Given the description of an element on the screen output the (x, y) to click on. 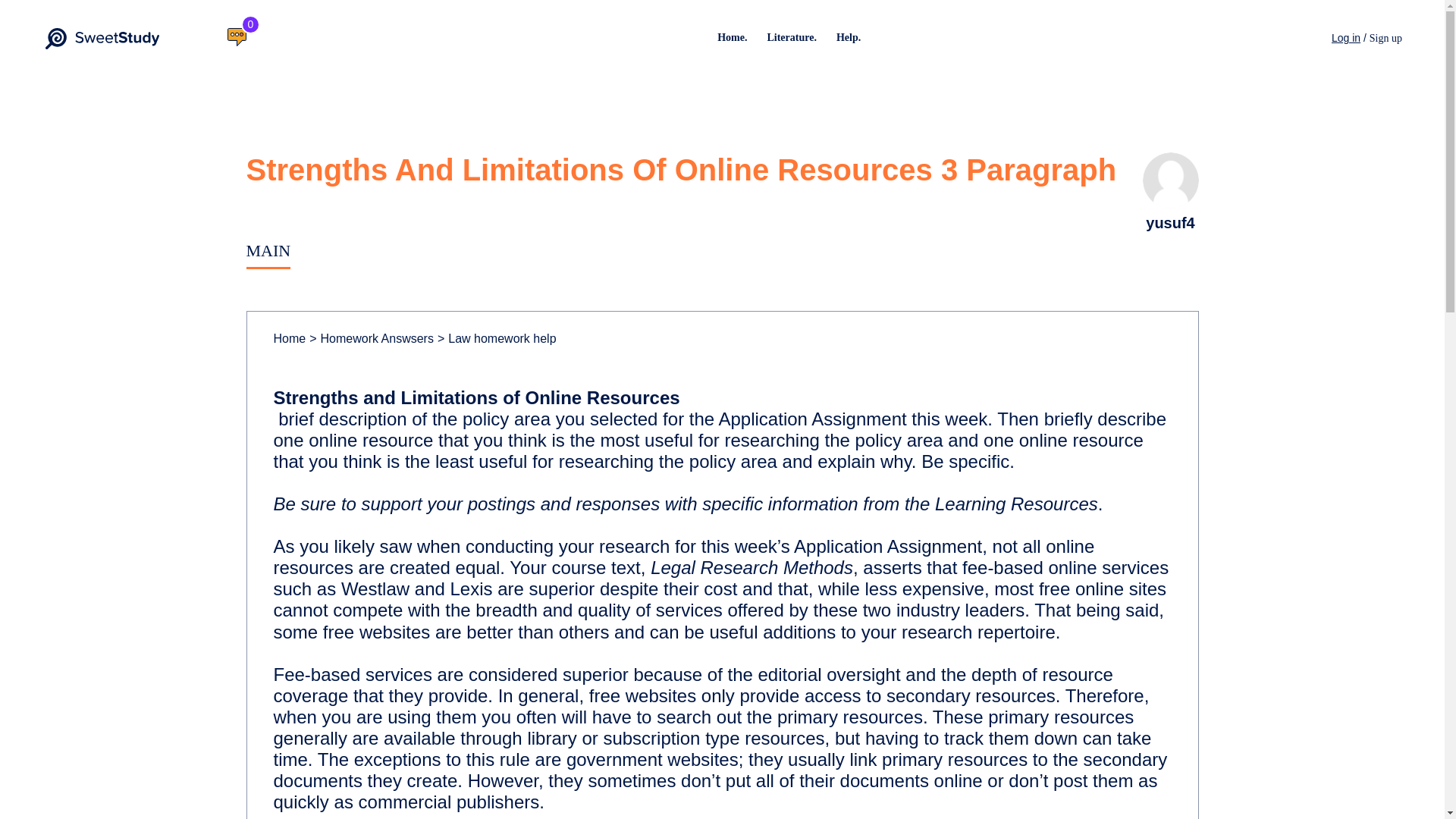
Log in (1345, 37)
Home (289, 338)
Literature. (791, 37)
Help. (847, 37)
Home. (732, 37)
MAIN (267, 250)
Sign up (1386, 38)
